Given the description of an element on the screen output the (x, y) to click on. 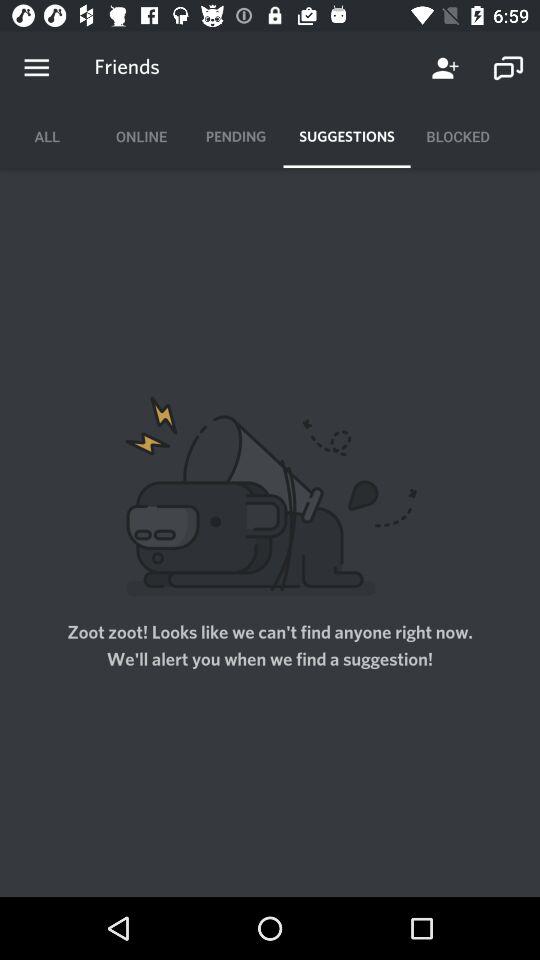
press the icon above blocked item (444, 67)
